Given the description of an element on the screen output the (x, y) to click on. 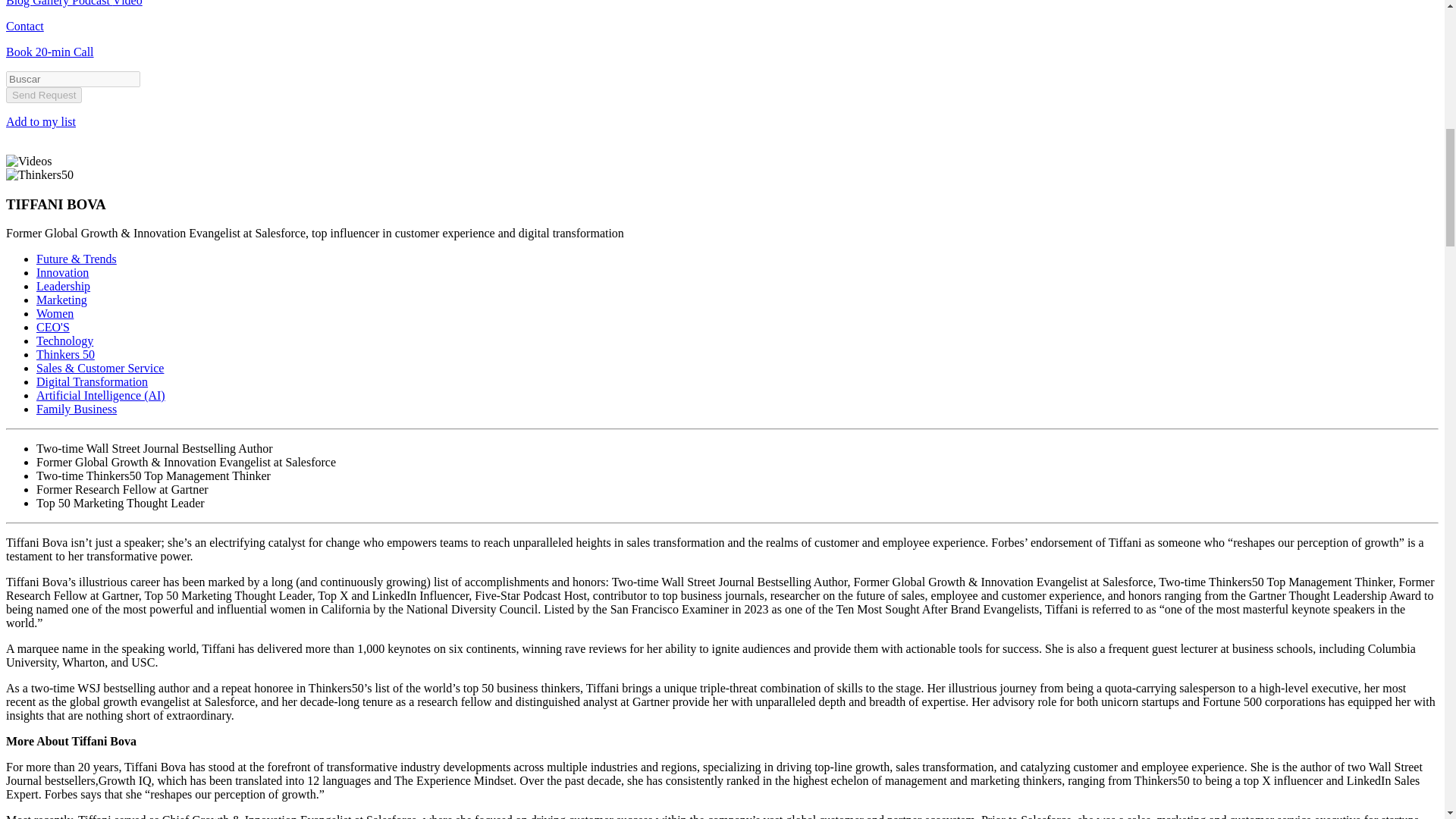
Send Request (43, 94)
